Given the description of an element on the screen output the (x, y) to click on. 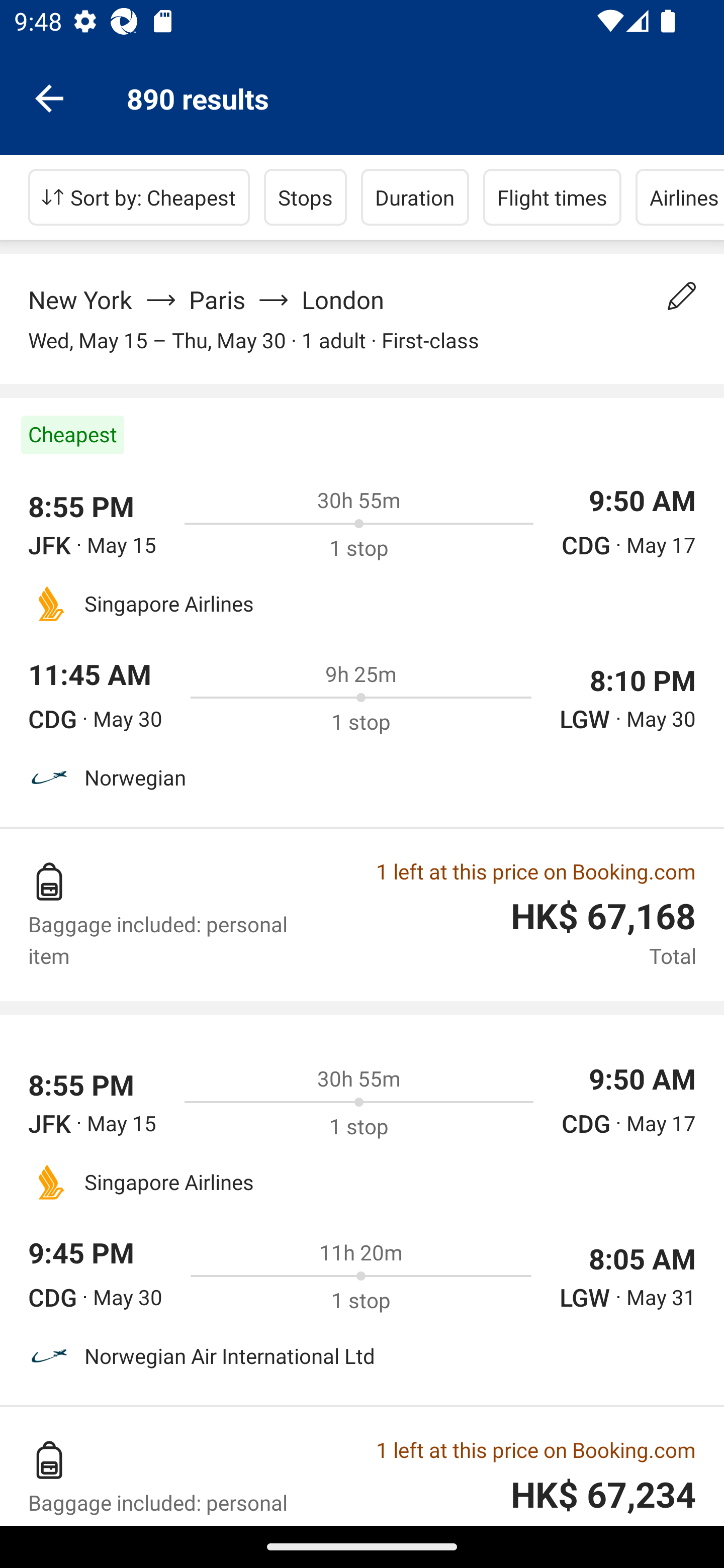
Navigate up (49, 97)
Sort by: Cheapest (138, 197)
Stops (305, 197)
Duration (415, 197)
Flight times (551, 197)
Airlines (679, 197)
Change your search details (681, 296)
HK$ 67,168 (603, 916)
HK$ 67,234 (603, 1494)
